Given the description of an element on the screen output the (x, y) to click on. 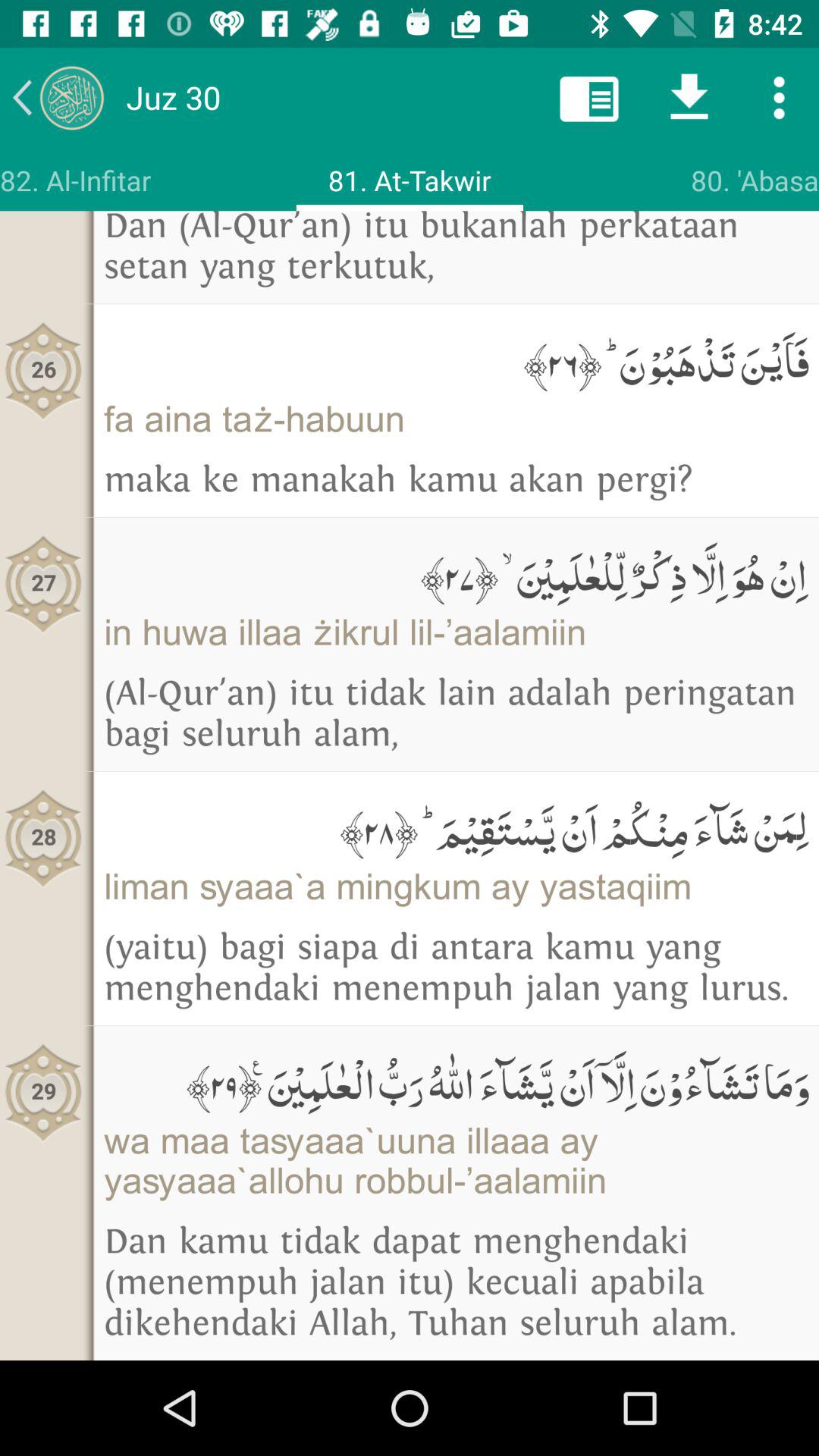
press 28 item (43, 838)
